Given the description of an element on the screen output the (x, y) to click on. 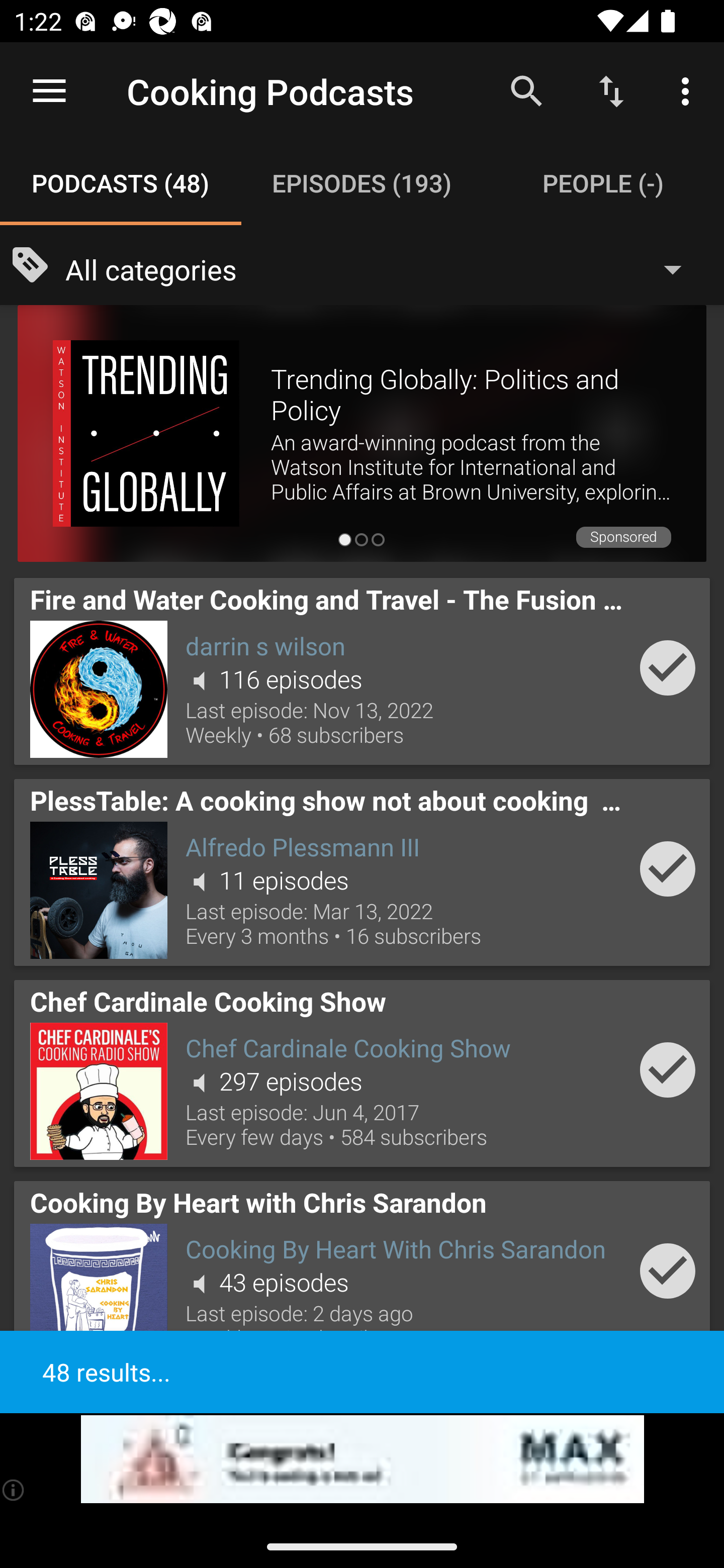
Open navigation sidebar (49, 91)
Search (526, 90)
Sort (611, 90)
More options (688, 90)
Episodes (193) EPISODES (193) (361, 183)
People (-) PEOPLE (-) (603, 183)
All categories (383, 268)
Add (667, 667)
Add (667, 868)
Add (667, 1069)
Add (667, 1271)
app-monetization (362, 1459)
(i) (14, 1489)
